Given the description of an element on the screen output the (x, y) to click on. 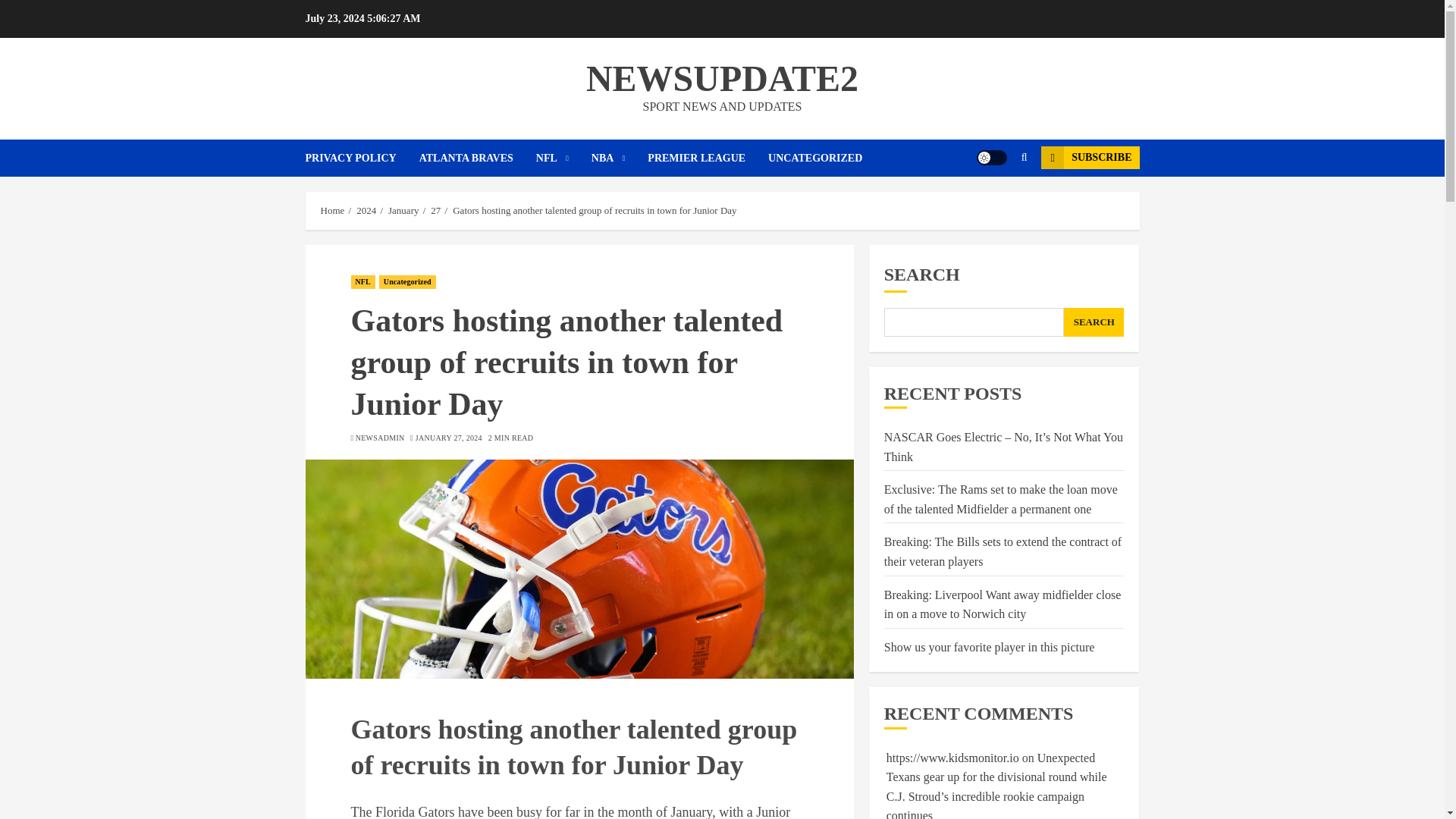
JANUARY 27, 2024 (447, 438)
UNCATEGORIZED (814, 157)
NEWSUPDATE2 (722, 78)
January (403, 210)
PREMIER LEAGUE (707, 157)
NFL (563, 157)
NEWSADMIN (379, 438)
Uncategorized (406, 282)
NBA (619, 157)
NFL (362, 282)
2024 (365, 210)
ATLANTA BRAVES (477, 157)
PRIVACY POLICY (361, 157)
Search (994, 203)
